Given the description of an element on the screen output the (x, y) to click on. 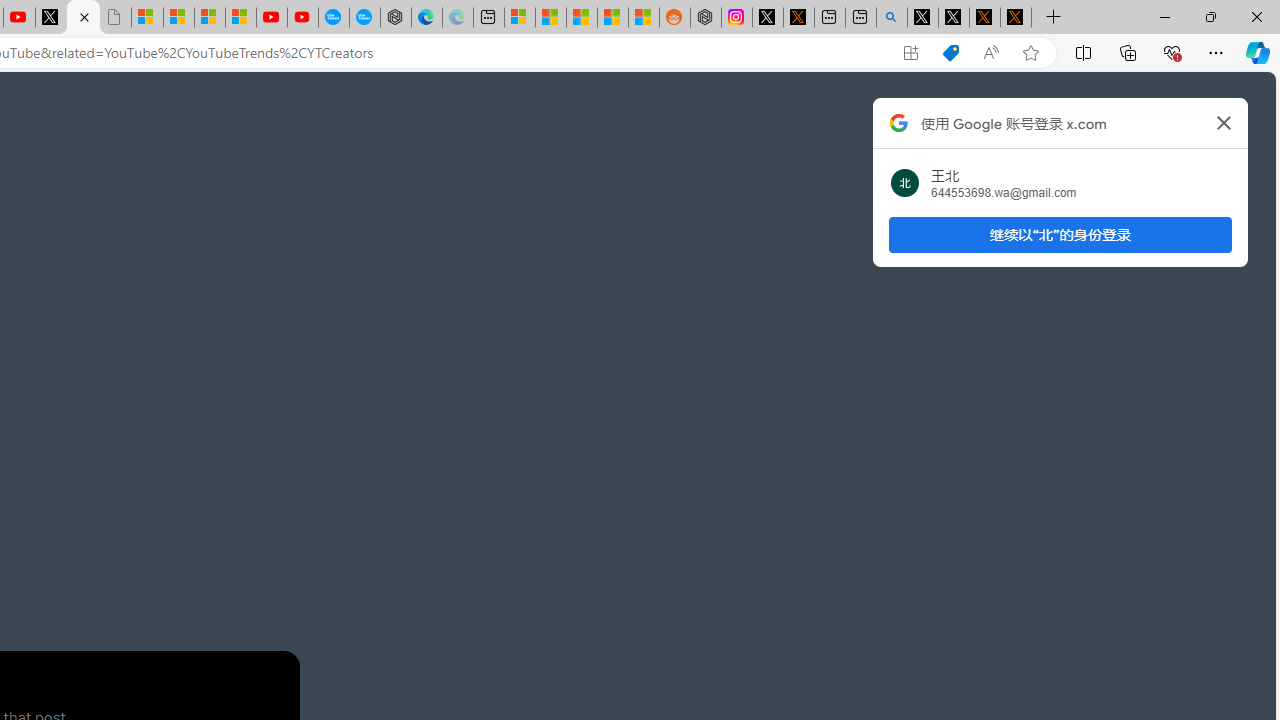
Shanghai, China Weather trends | Microsoft Weather (643, 17)
Log in to X / X (767, 17)
Untitled (114, 17)
Close (1256, 16)
Shanghai, China hourly forecast | Microsoft Weather (581, 17)
Restore (1210, 16)
Nordace - Nordace has arrived Hong Kong (395, 17)
Nordace - Summer Adventures 2024 (705, 17)
Shanghai, China weather forecast | Microsoft Weather (550, 17)
The most popular Google 'how to' searches (364, 17)
Settings and more (Alt+F) (1215, 52)
